Given the description of an element on the screen output the (x, y) to click on. 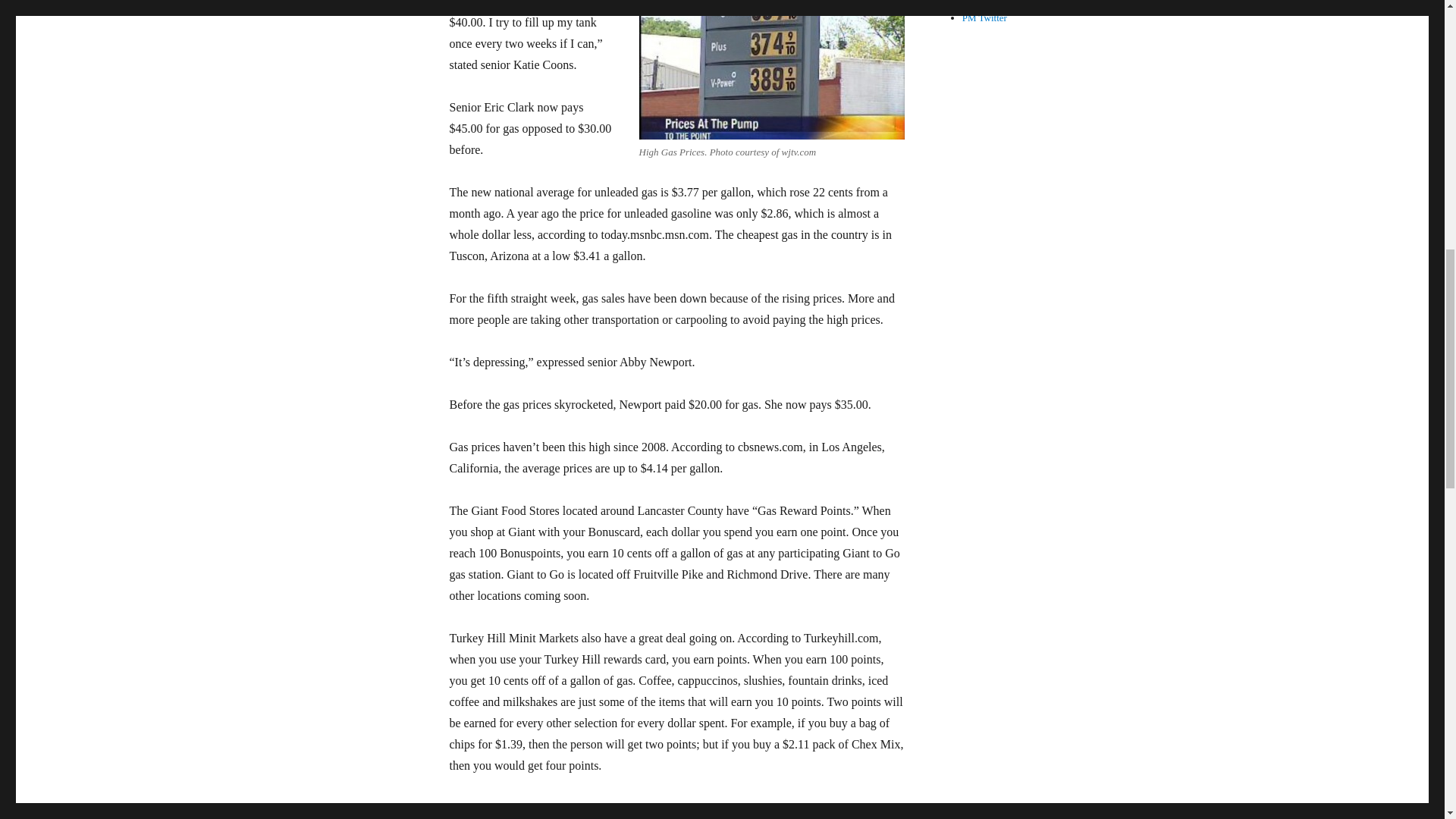
PM High School (1012, 3)
gas-prices-on-the-rise-again-62552 (771, 69)
PM Twitter (984, 17)
